Given the description of an element on the screen output the (x, y) to click on. 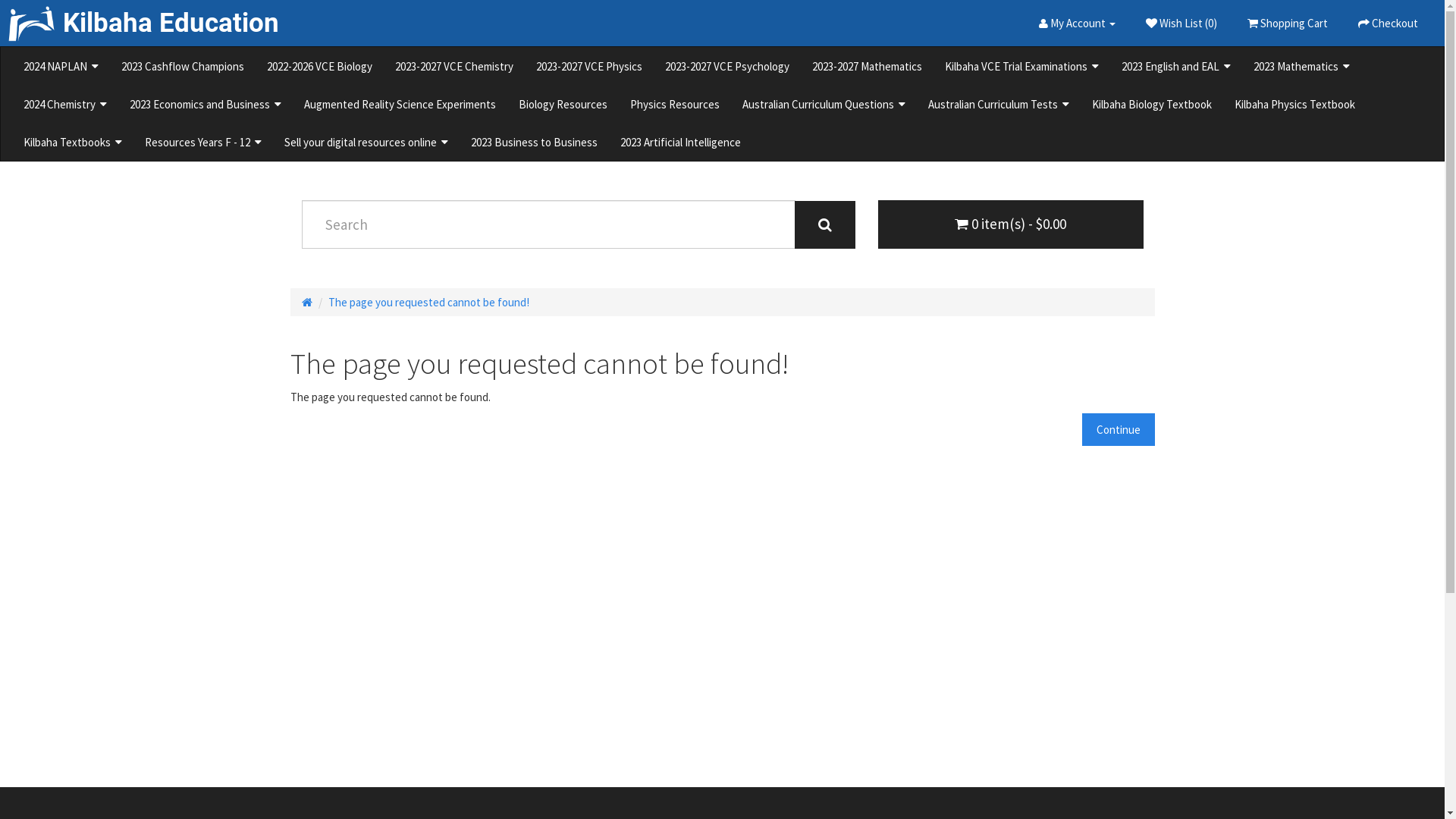
Kilbaha Education Element type: text (139, 18)
Biology Resources Element type: text (562, 103)
2023 Cashflow Champions Element type: text (182, 65)
2023 Mathematics   Element type: text (1301, 65)
2023 Economics and Business   Element type: text (205, 103)
Resources Years F - 12   Element type: text (203, 141)
2024 Chemistry   Element type: text (65, 103)
Australian Curriculum Questions   Element type: text (823, 103)
2023 English and EAL   Element type: text (1176, 65)
2024 NAPLAN   Element type: text (60, 65)
Wish List (0) Element type: text (1181, 23)
Kilbaha VCE Trial Examinations   Element type: text (1021, 65)
Continue Element type: text (1117, 429)
Augmented Reality Science Experiments Element type: text (399, 103)
The page you requested cannot be found! Element type: text (427, 301)
Australian Curriculum Tests   Element type: text (998, 103)
Checkout Element type: text (1388, 23)
2023-2027 Mathematics Element type: text (866, 65)
2023-2027 VCE Psychology Element type: text (726, 65)
Physics Resources Element type: text (674, 103)
My Account Element type: text (1076, 23)
2023 Business to Business Element type: text (533, 141)
0 item(s) - $0.00 Element type: text (1010, 223)
Shopping Cart Element type: text (1287, 23)
Kilbaha Biology Textbook Element type: text (1151, 103)
2022-2026 VCE Biology Element type: text (319, 65)
2023 Artificial Intelligence Element type: text (680, 141)
2023-2027 VCE Chemistry Element type: text (453, 65)
Kilbaha Textbooks   Element type: text (72, 141)
Kilbaha Physics Textbook Element type: text (1294, 103)
2023-2027 VCE Physics Element type: text (588, 65)
Sell your digital resources online   Element type: text (366, 141)
